Given the description of an element on the screen output the (x, y) to click on. 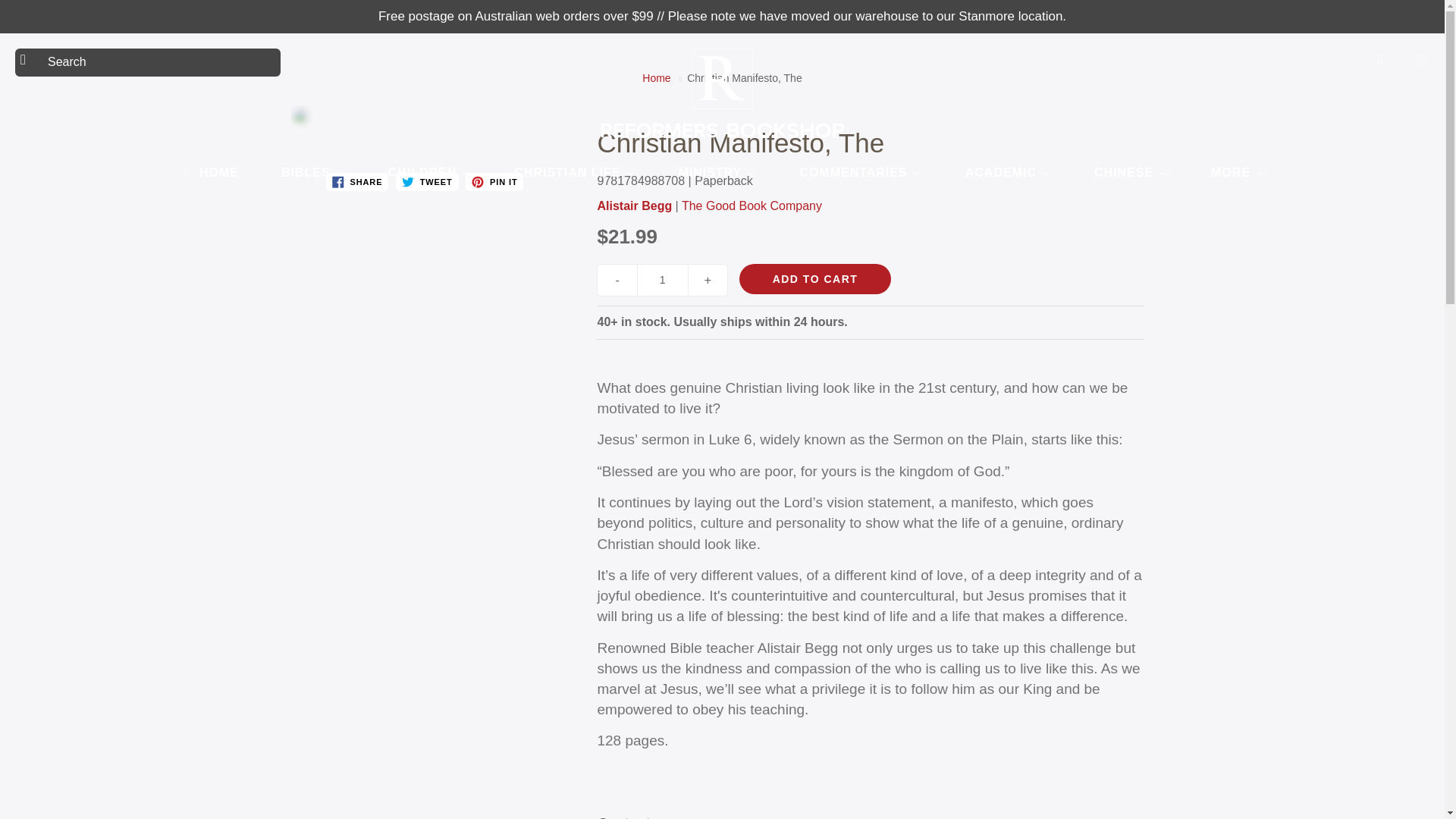
HOME (208, 172)
CHILDREN (429, 172)
My account (1379, 59)
Search (28, 59)
1 (662, 279)
You have 0 items in your cart (1417, 59)
BIBLES (312, 172)
